Given the description of an element on the screen output the (x, y) to click on. 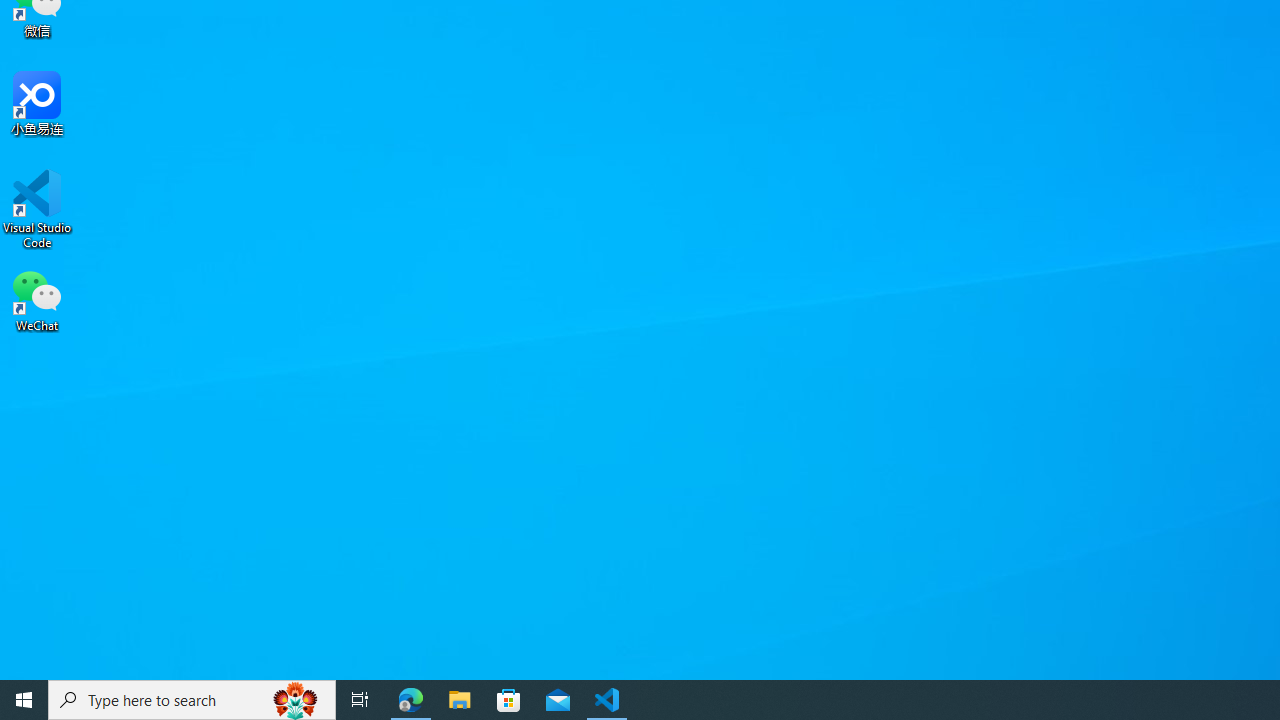
Microsoft Store (509, 699)
Task View (359, 699)
Visual Studio Code (37, 209)
File Explorer (460, 699)
WeChat (37, 299)
Microsoft Edge - 1 running window (411, 699)
Start (24, 699)
Search highlights icon opens search home window (295, 699)
Visual Studio Code - 1 running window (607, 699)
Type here to search (191, 699)
